Given the description of an element on the screen output the (x, y) to click on. 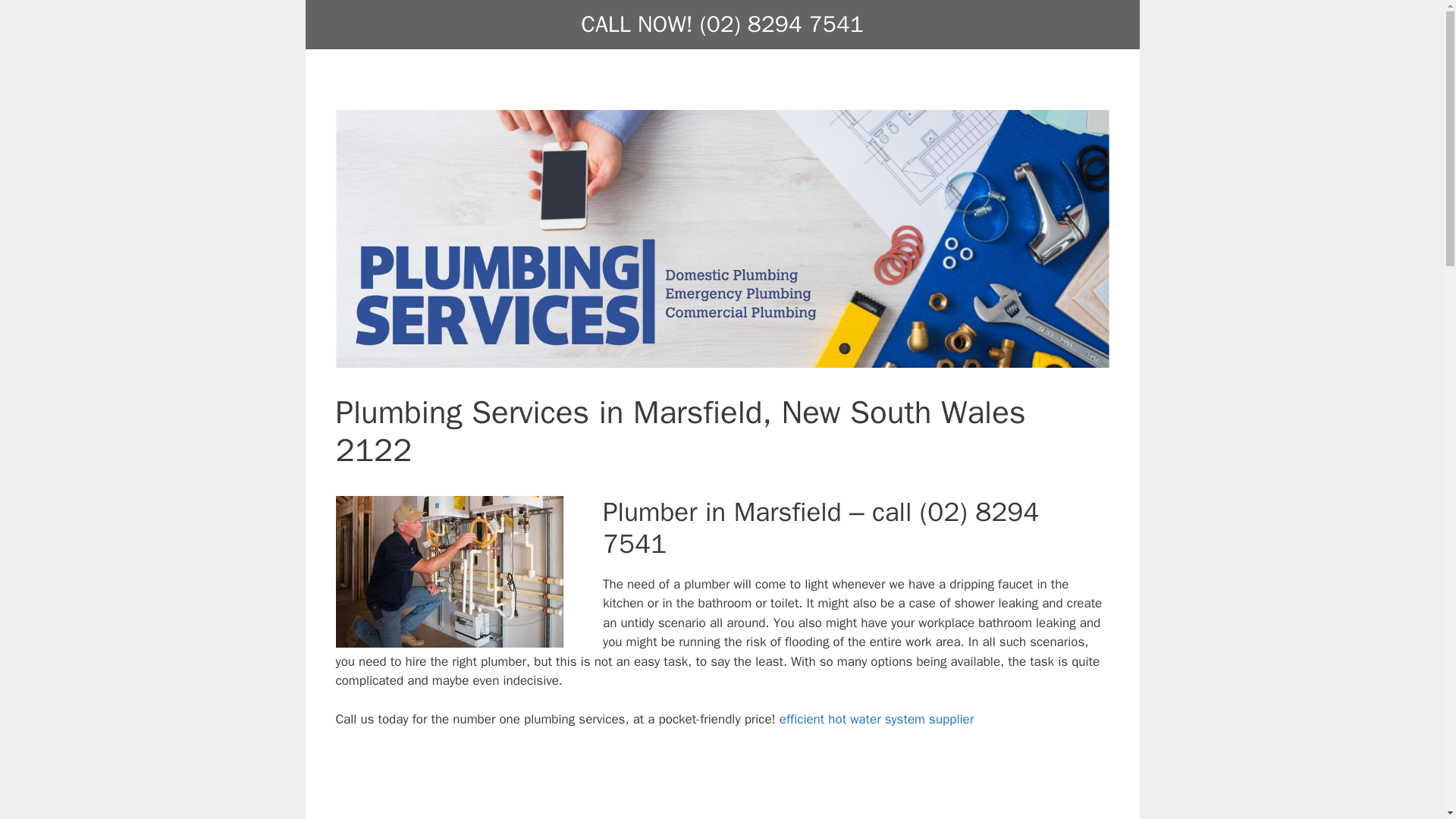
efficient hot water system supplier (876, 719)
